Given the description of an element on the screen output the (x, y) to click on. 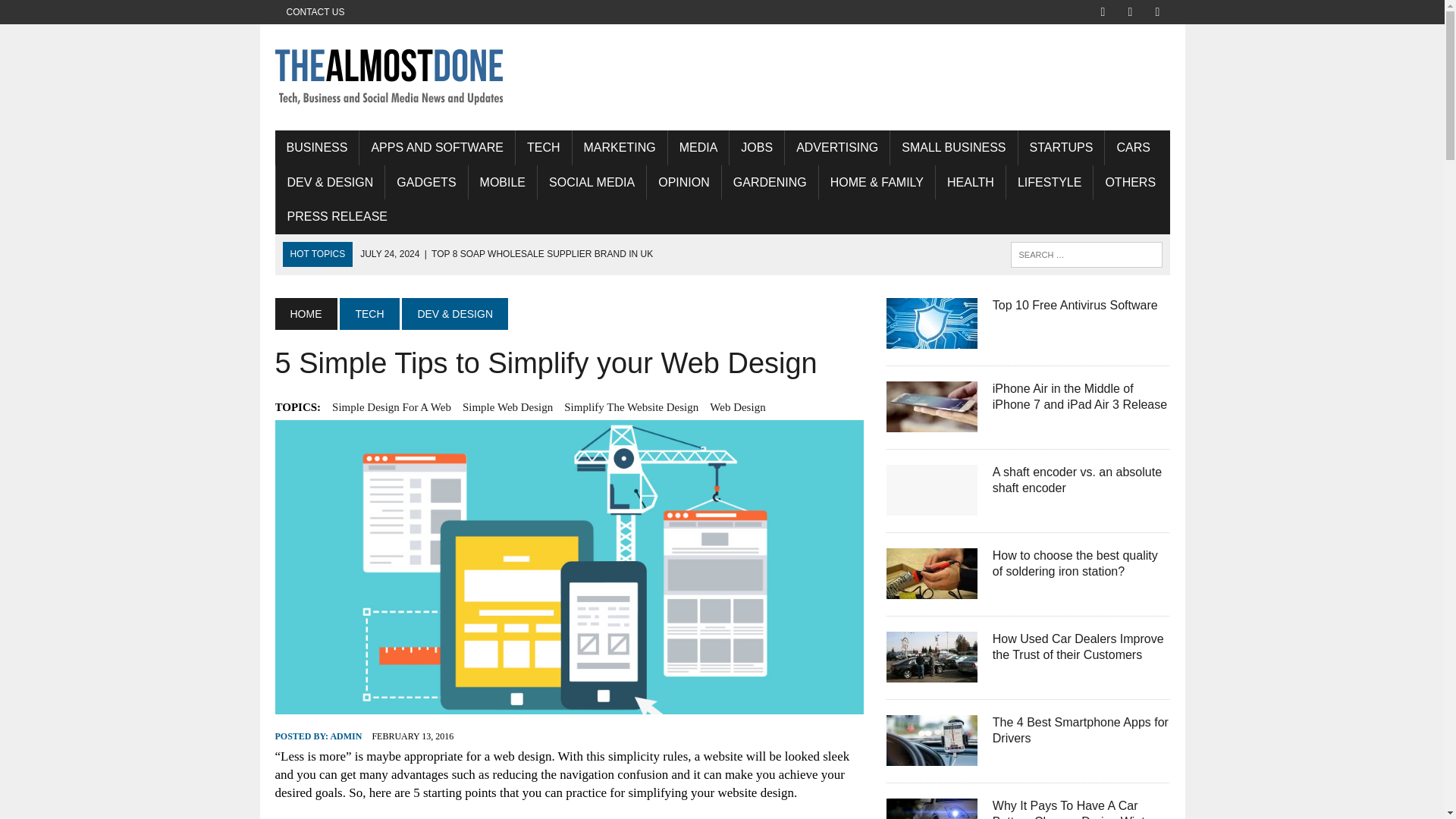
OTHERS (1130, 182)
APPS AND SOFTWARE (437, 147)
CARS (1132, 147)
PRESS RELEASE (337, 216)
MEDIA (698, 147)
JOBS (756, 147)
STARTUPS (1061, 147)
HEALTH (971, 182)
OPINION (683, 182)
SOCIAL MEDIA (591, 182)
